Given the description of an element on the screen output the (x, y) to click on. 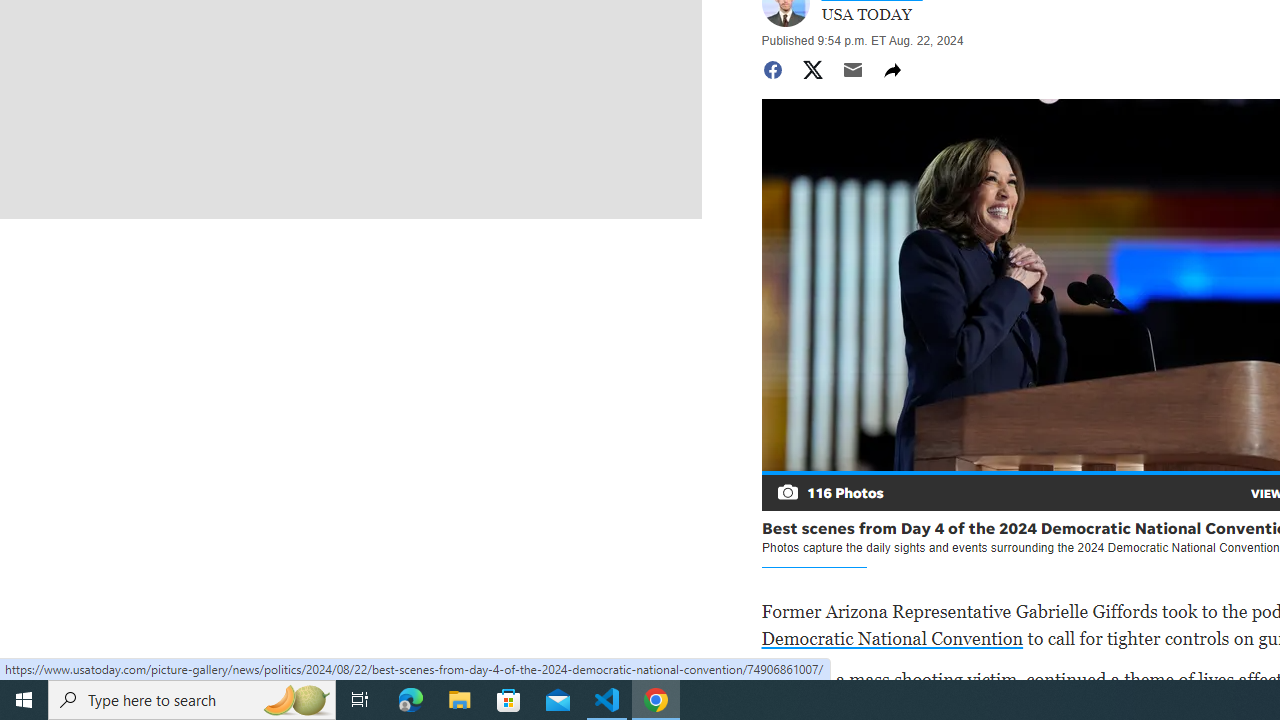
Democratic National Convention (892, 637)
Share to Twitter (812, 69)
Share by email (852, 69)
Share to Facebook (772, 69)
Share natively (891, 69)
